Given the description of an element on the screen output the (x, y) to click on. 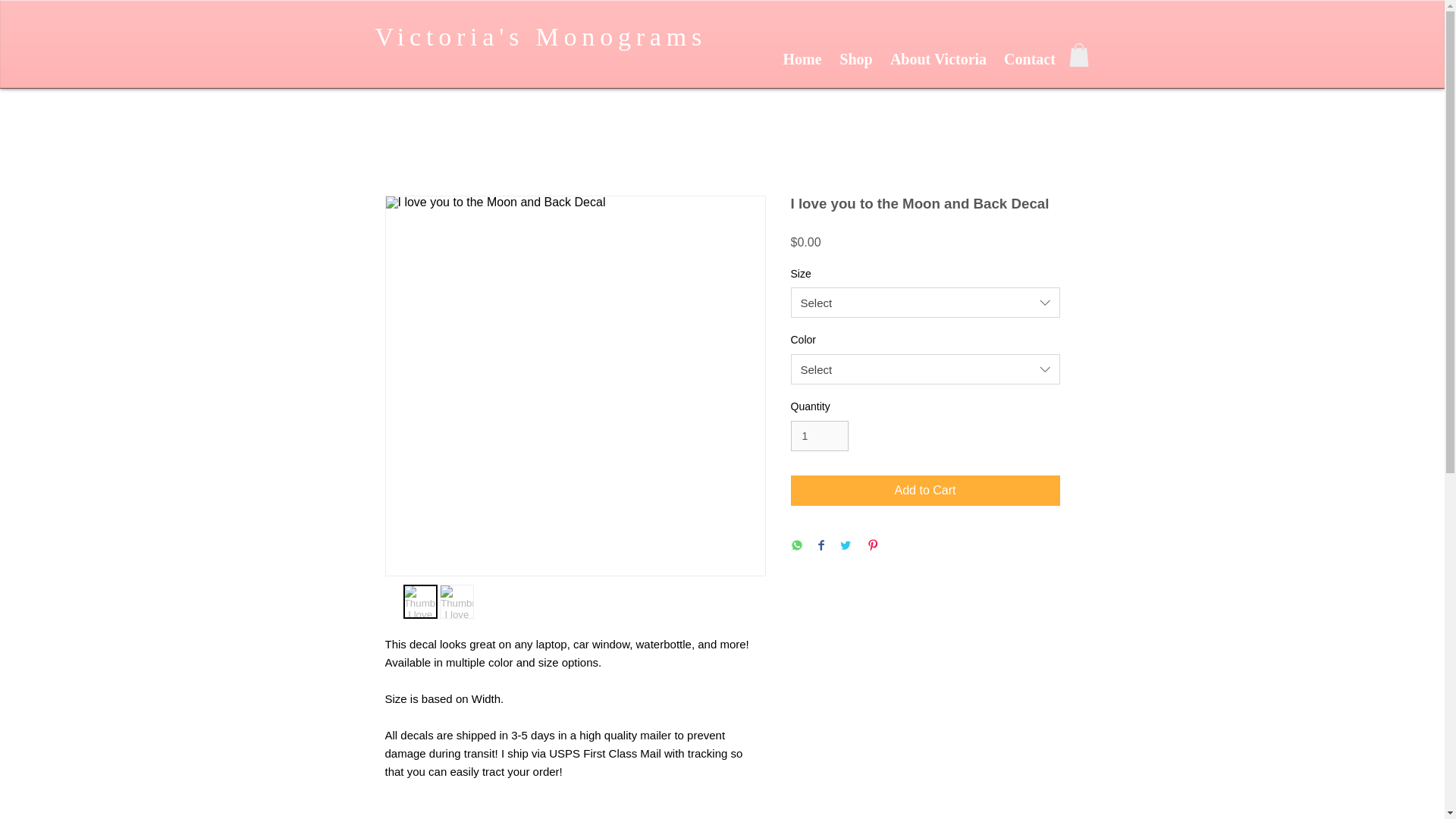
1 (818, 436)
Add to Cart (924, 490)
Select (924, 368)
Select (924, 302)
About Victoria (937, 57)
Home (801, 57)
Contact (1029, 57)
